Given the description of an element on the screen output the (x, y) to click on. 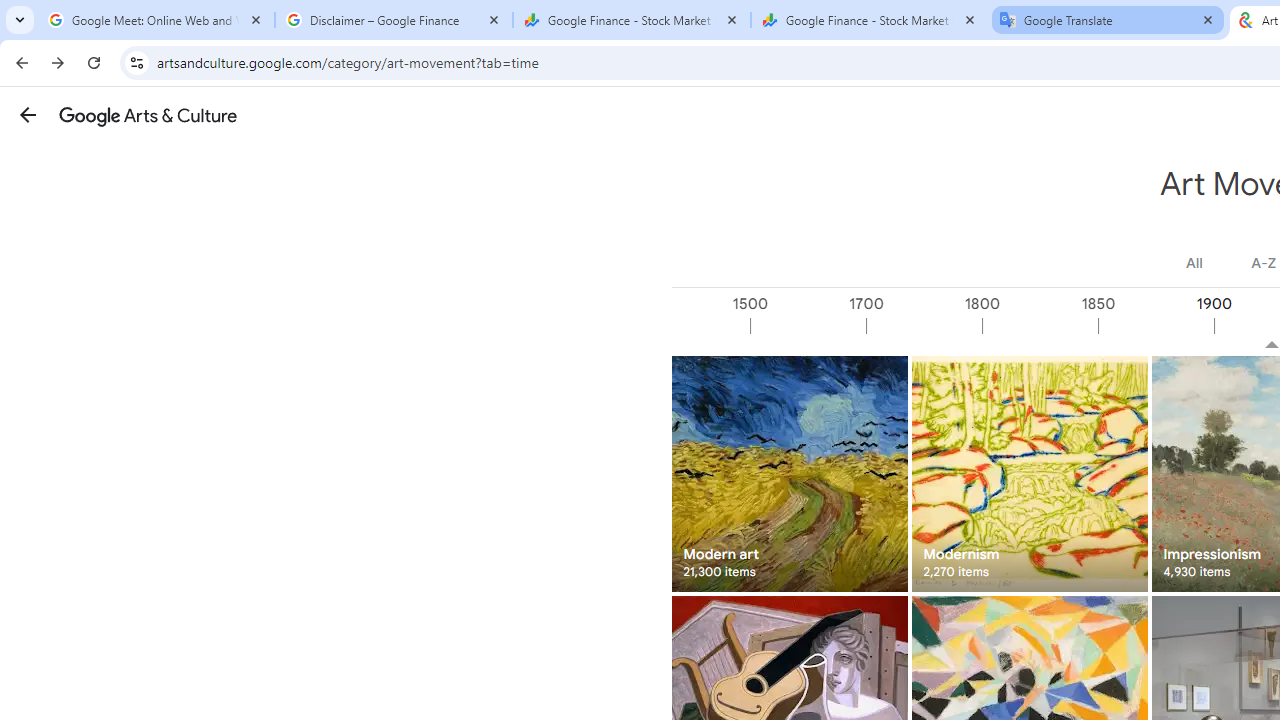
Google Arts & Culture (148, 115)
Google Translate (1108, 20)
1800 (1039, 326)
1700 (923, 326)
1500 (807, 326)
1000 (691, 326)
